Given the description of an element on the screen output the (x, y) to click on. 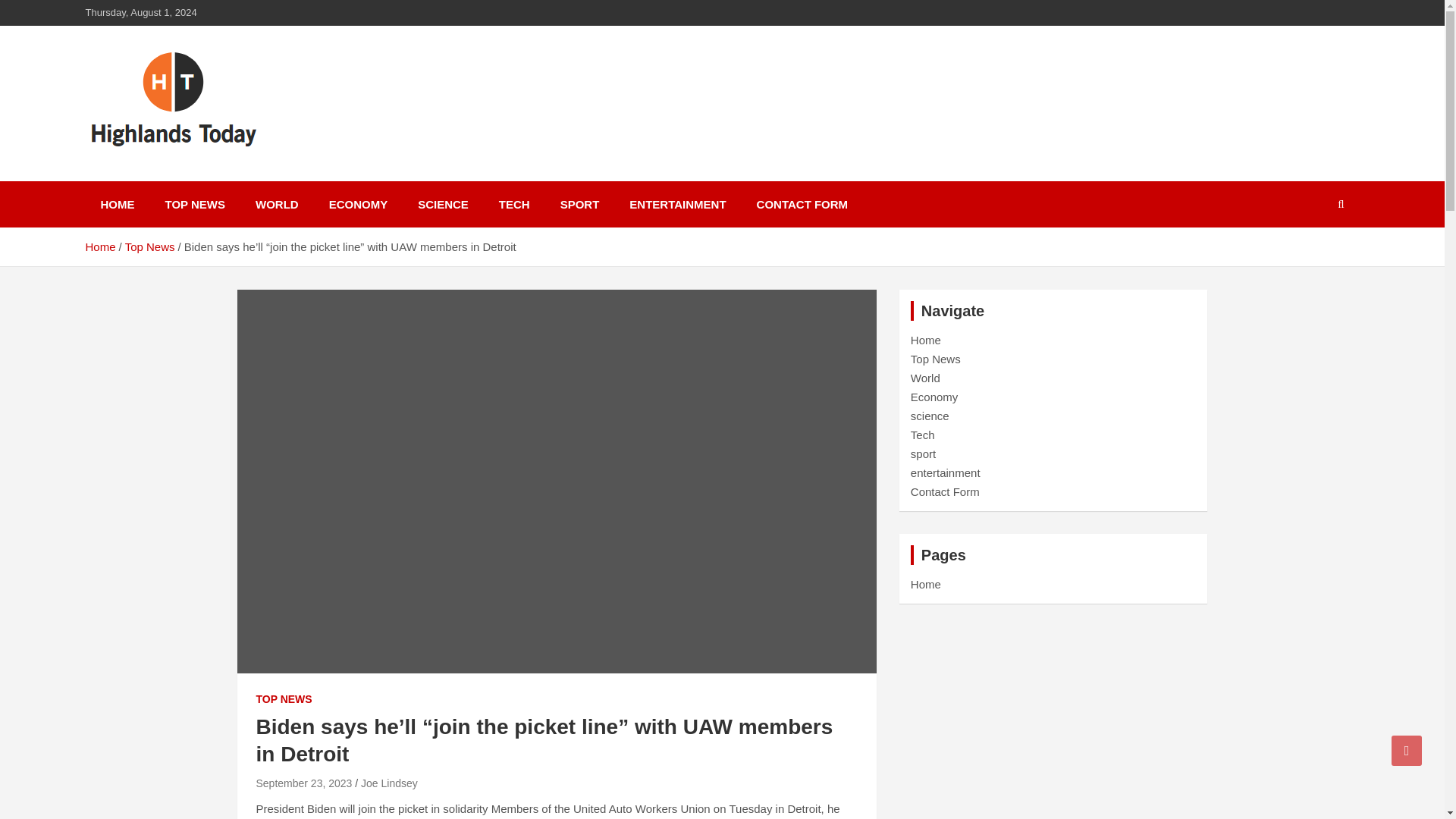
Highlands Today (205, 177)
CONTACT FORM (802, 203)
sport (923, 453)
Home (99, 246)
ECONOMY (358, 203)
TOP NEWS (194, 203)
TECH (513, 203)
HOME (116, 203)
ENTERTAINMENT (677, 203)
Joe Lindsey (389, 783)
entertainment (945, 472)
Home (925, 584)
declared (277, 818)
Home (925, 339)
Go to Top (1406, 750)
